Given the description of an element on the screen output the (x, y) to click on. 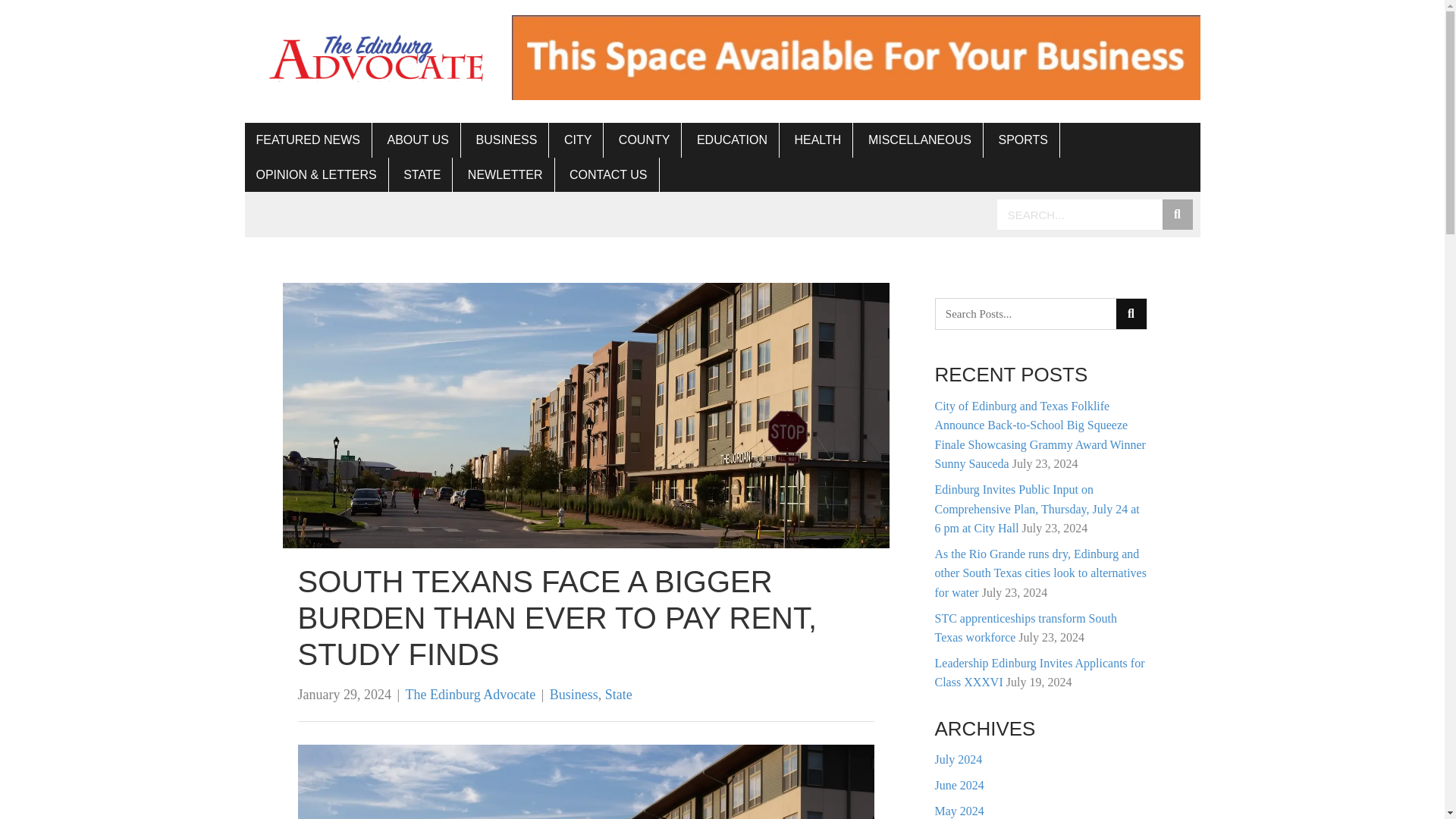
Header-Logo-1-e1636701524330 (377, 57)
Search (1026, 313)
The Edinburg Advocate (470, 694)
EDUCATION (731, 140)
FEATURED NEWS (307, 140)
CONTACT US (608, 175)
BUSINESS (506, 140)
CITY (578, 140)
MISCELLANEOUS (920, 140)
ABOUT US (418, 140)
SPORTS (1023, 140)
Top Banner Ad Layout (855, 57)
STATE (421, 175)
NEWLETTER (505, 175)
Search (1079, 214)
